Given the description of an element on the screen output the (x, y) to click on. 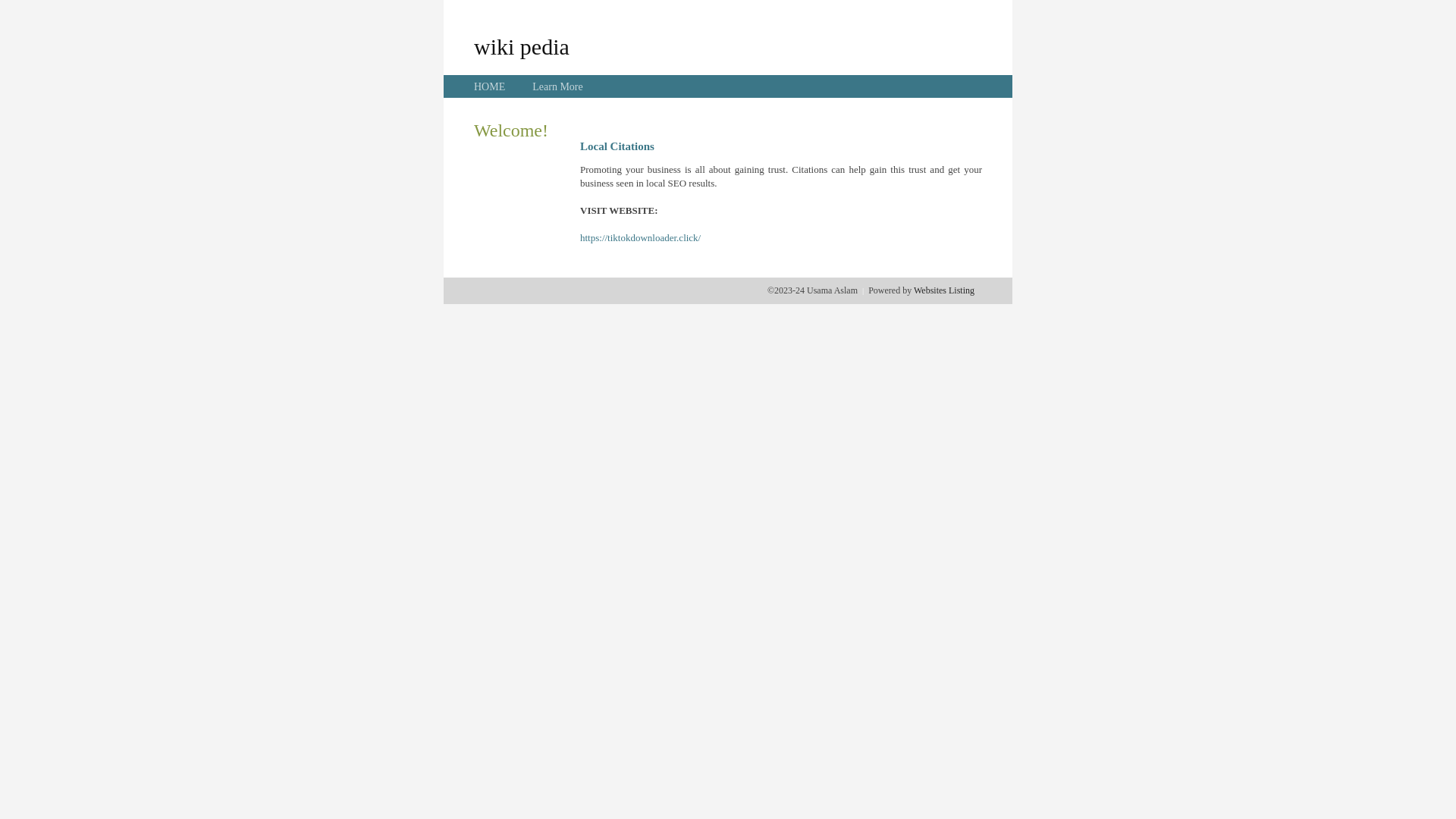
HOME Element type: text (489, 86)
Learn More Element type: text (557, 86)
wiki pedia Element type: text (521, 46)
Websites Listing Element type: text (943, 290)
https://tiktokdownloader.click/ Element type: text (640, 237)
